Given the description of an element on the screen output the (x, y) to click on. 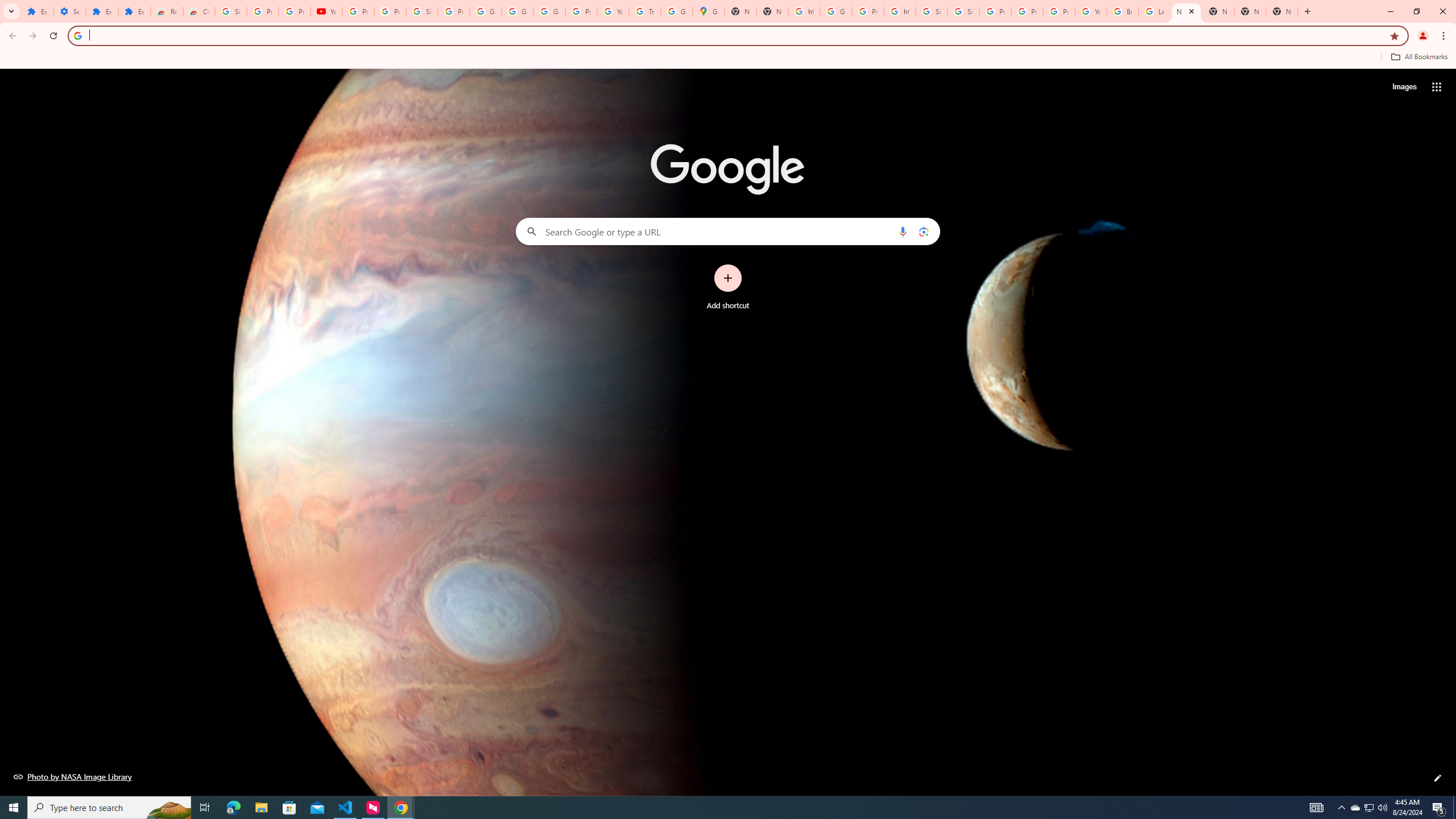
Search Google or type a URL (727, 230)
Google Maps (708, 11)
Sign in - Google Accounts (931, 11)
Privacy Help Center - Policies Help (1027, 11)
New Tab (1281, 11)
YouTube (1091, 11)
